Given the description of an element on the screen output the (x, y) to click on. 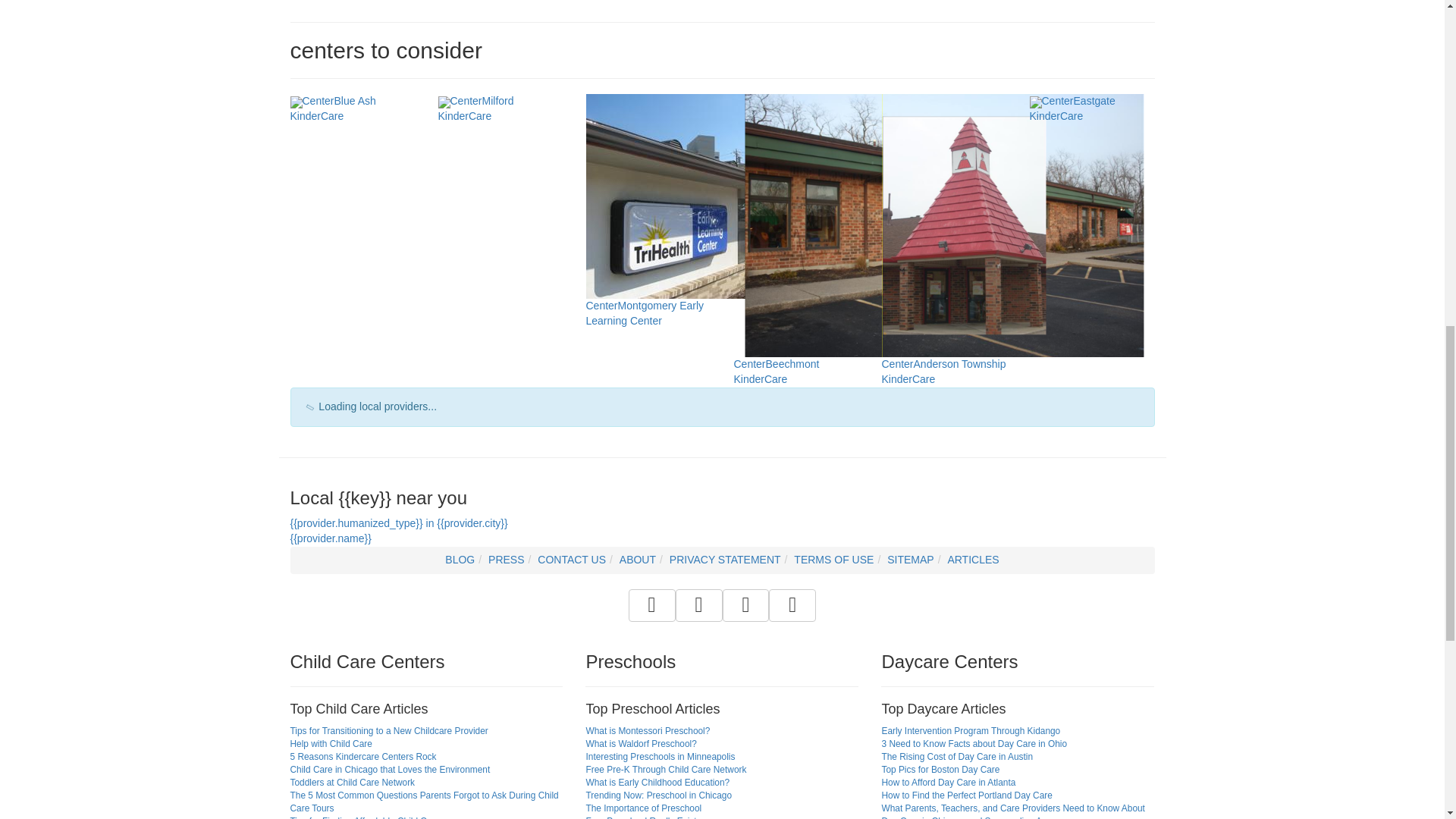
ABOUT (638, 559)
CenterAnderson Township KinderCare (962, 301)
PRIVACY STATEMENT (724, 559)
SITEMAP (909, 559)
CenterBeechmont KinderCare (943, 301)
CenterMontgomery Early Learning Center (722, 257)
CenterMilford KinderCare (475, 108)
CenterBlue Ash KinderCare (332, 108)
BLOG (459, 559)
PRESS (505, 559)
TERMS OF USE (833, 559)
ARTICLES (972, 559)
CONTACT US (571, 559)
CenterEastgate KinderCare (1072, 108)
